Given the description of an element on the screen output the (x, y) to click on. 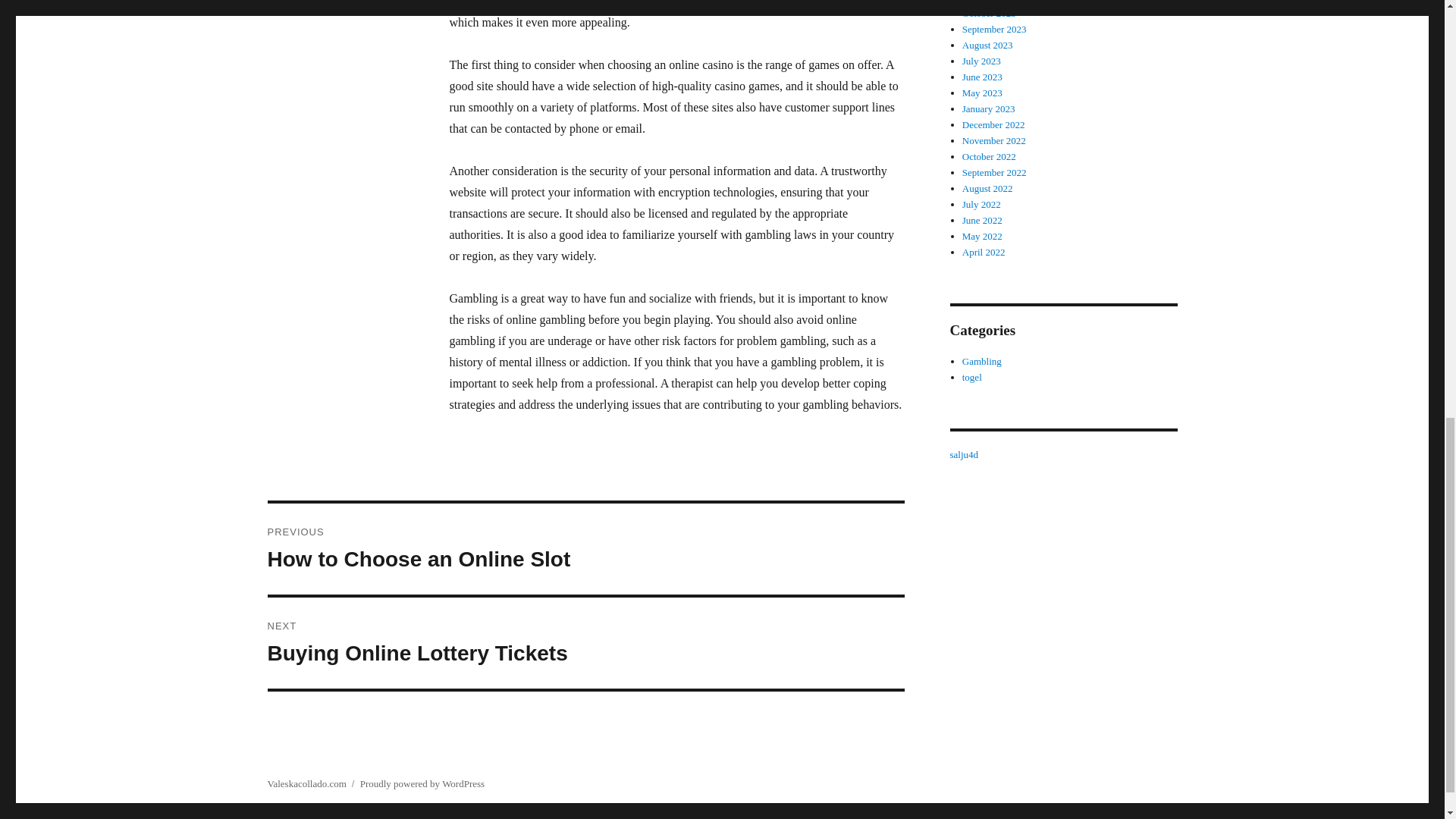
August 2022 (987, 188)
November 2023 (994, 1)
January 2023 (988, 108)
November 2022 (994, 140)
September 2022 (994, 172)
May 2023 (982, 92)
July 2022 (981, 204)
June 2022 (982, 220)
October 2023 (989, 12)
October 2022 (989, 156)
June 2023 (982, 76)
August 2023 (987, 44)
July 2023 (981, 60)
